Given the description of an element on the screen output the (x, y) to click on. 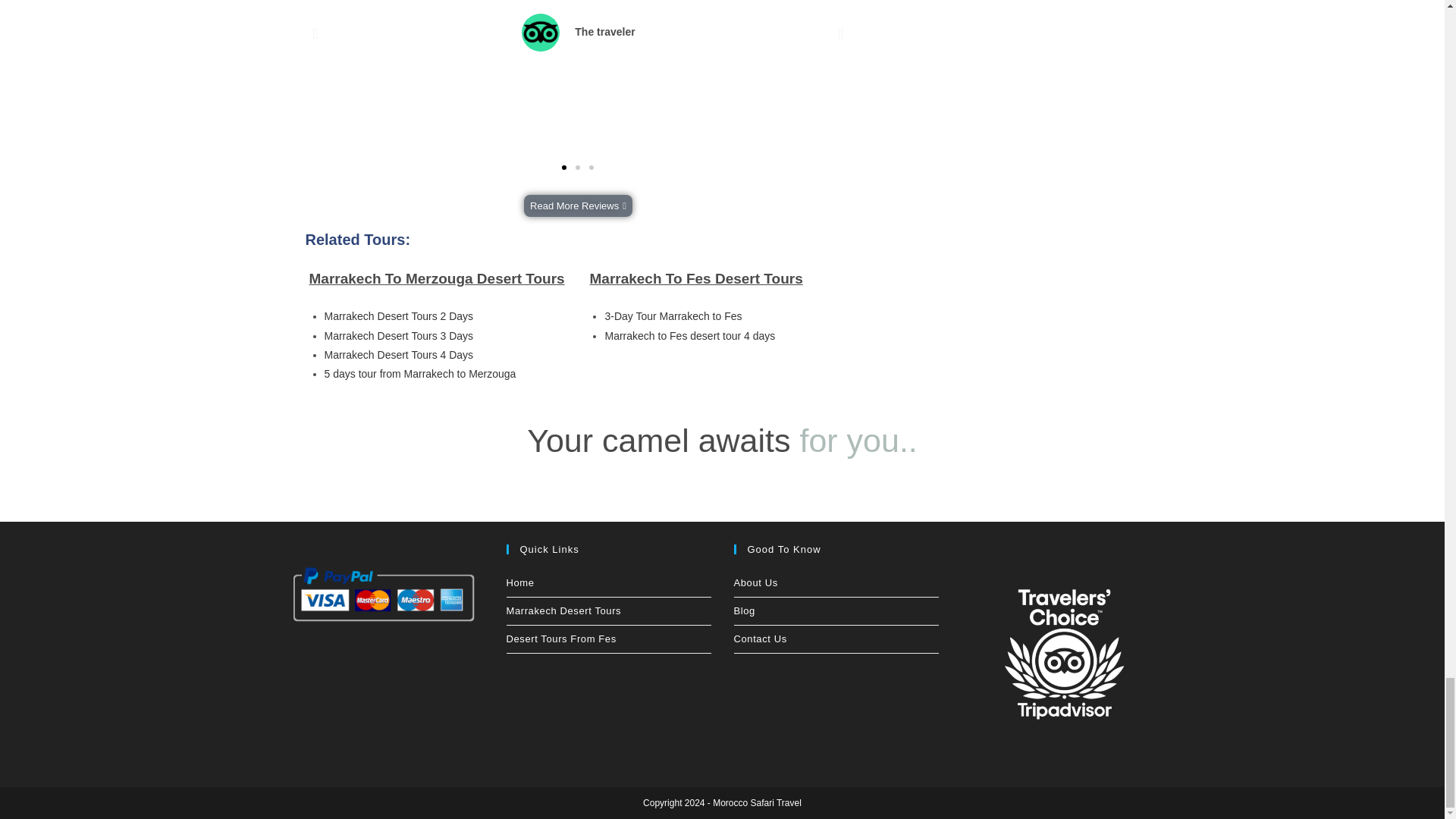
Marrakech Desert Tours 3 Days (399, 336)
Marrakech Desert Tours 2 Days (399, 316)
Marrakech to Fes desert tour 4 days (689, 336)
Read More Reviews (577, 205)
3 Days Desert Tour from Marrakech to Fes (672, 316)
5 days tour from Marrakech to Merzouga (420, 373)
Marrakech Desert Tours 4 Days (399, 354)
3-Day Tour Marrakech to Fes (672, 316)
